Given the description of an element on the screen output the (x, y) to click on. 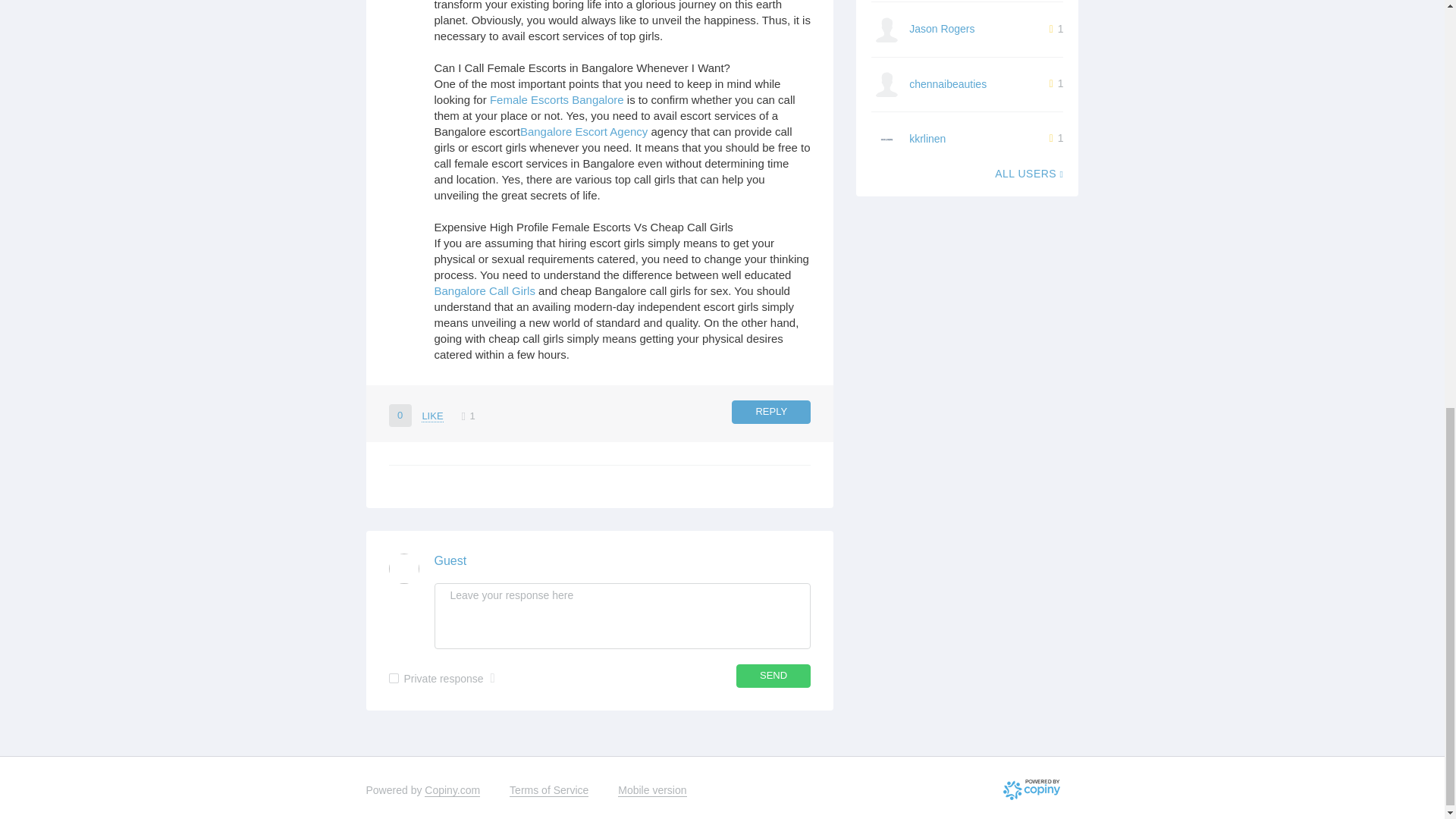
LIKE (432, 416)
Bangalore Escort Agency (583, 131)
Bangalore Call Girls (483, 290)
REPLY (771, 412)
Guest (449, 560)
SEND (773, 675)
Female Escorts Bangalore (556, 99)
